Given the description of an element on the screen output the (x, y) to click on. 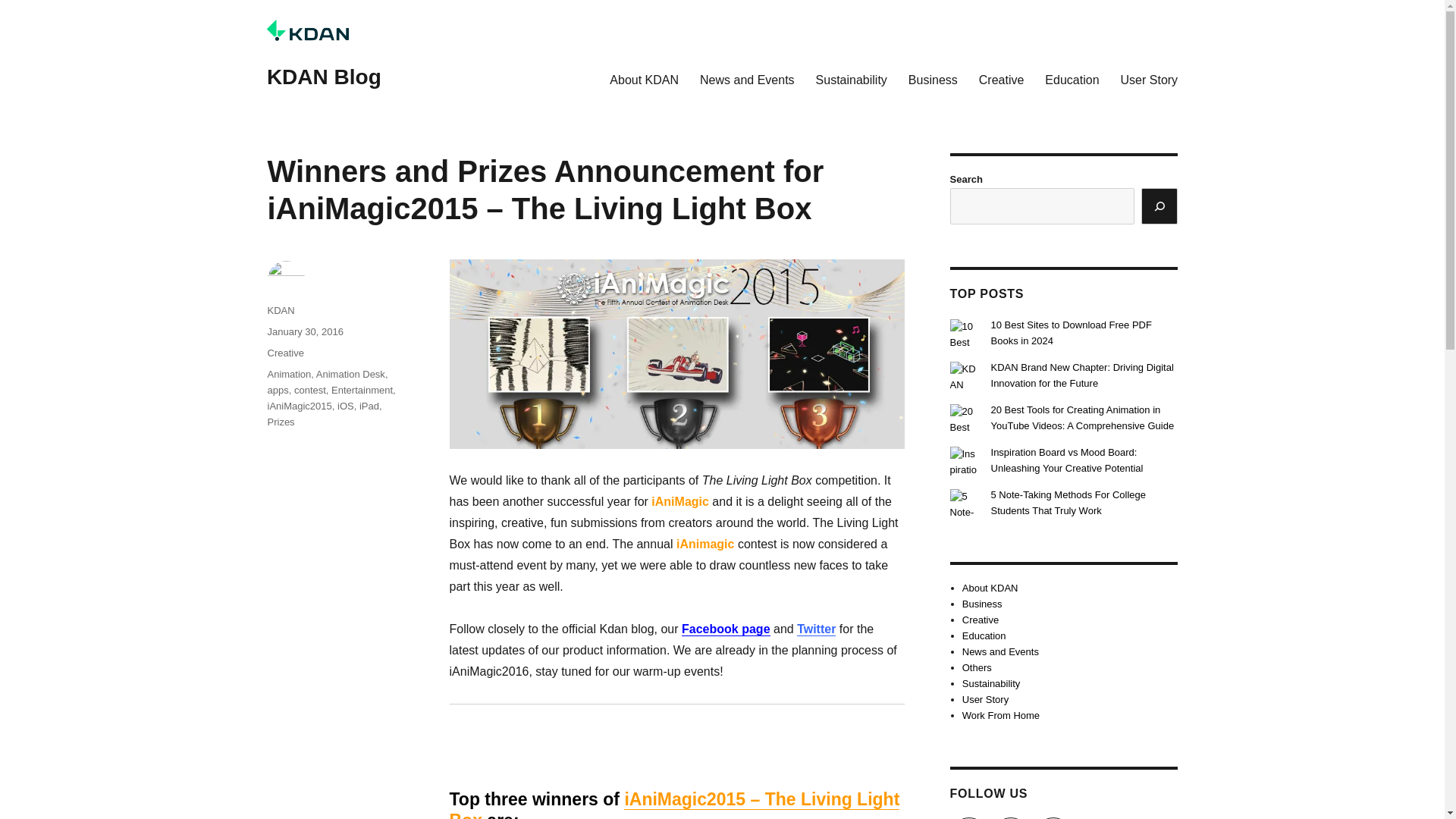
About KDAN (643, 79)
Sustainability (851, 79)
iPad (368, 405)
iOS (345, 405)
KDAN (280, 310)
10 Best Sites to Download Free PDF Books in 2024 (1071, 332)
contest (310, 389)
Creative (284, 352)
